Given the description of an element on the screen output the (x, y) to click on. 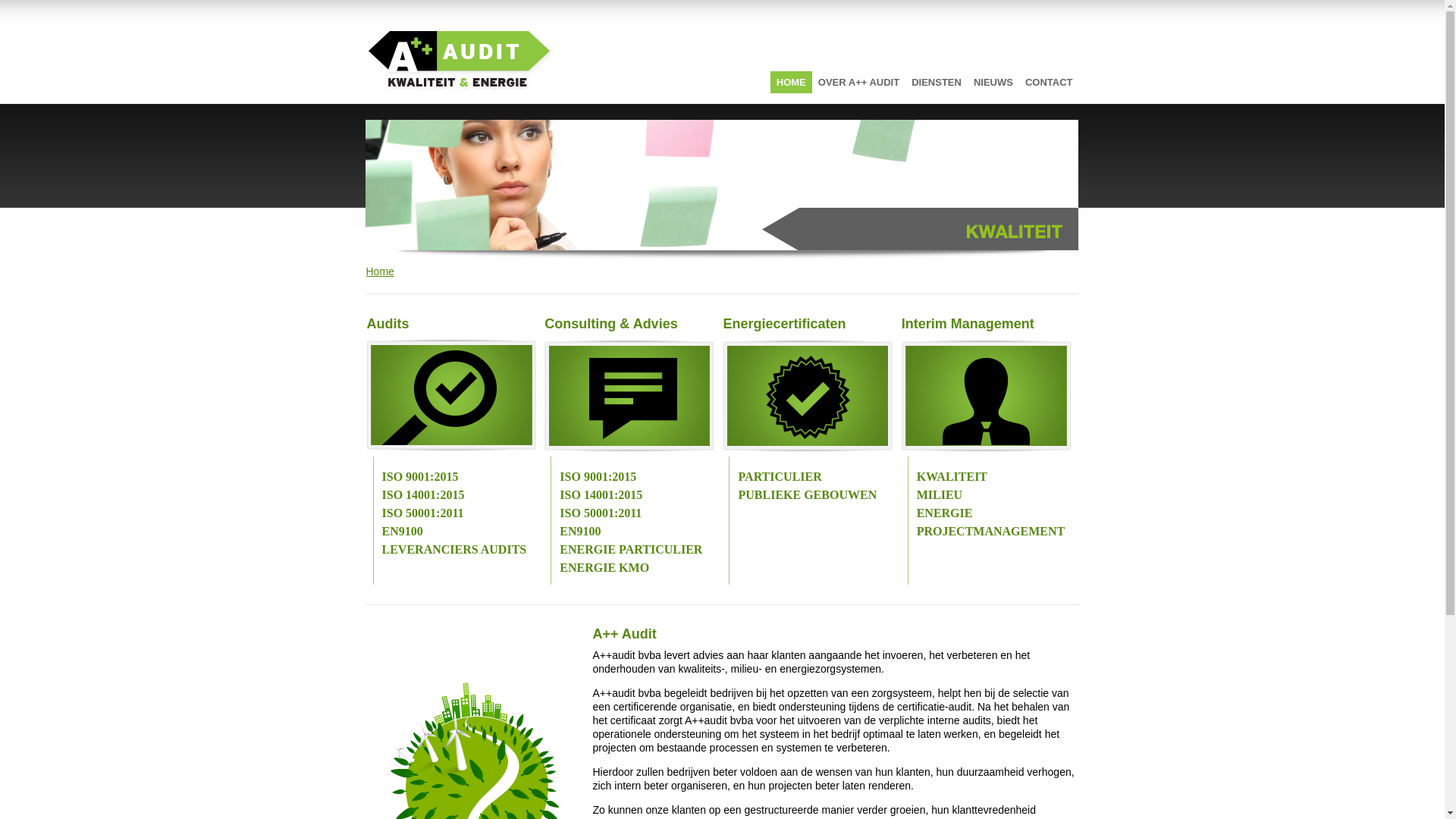
MILIEU Element type: text (939, 494)
ENERGIE KMO Element type: text (604, 567)
ISO 9001:2015 Element type: text (597, 476)
PROJECTMANAGEMENT Element type: text (990, 530)
DIENSTEN Element type: text (936, 82)
ISO 50001:2011 Element type: text (423, 512)
Home Element type: text (379, 271)
ISO 50001:2011 Element type: text (600, 512)
ISO 14001:2015 Element type: text (423, 494)
OVER A++ AUDIT Element type: text (858, 82)
NIEUWS Element type: text (993, 82)
PUBLIEKE GEBOUWEN Element type: text (806, 494)
LEVERANCIERS AUDITS Element type: text (454, 548)
HOME Element type: text (791, 82)
EN9100 Element type: text (579, 530)
ENERGIE PARTICULIER Element type: text (630, 548)
PARTICULIER Element type: text (779, 476)
EN9100 Element type: text (402, 530)
CONTACT Element type: text (1049, 82)
ENERGIE Element type: text (944, 512)
ISO 9001:2015 Element type: text (420, 476)
KWALITEIT Element type: text (951, 476)
ISO 14001:2015 Element type: text (600, 494)
